Given the description of an element on the screen output the (x, y) to click on. 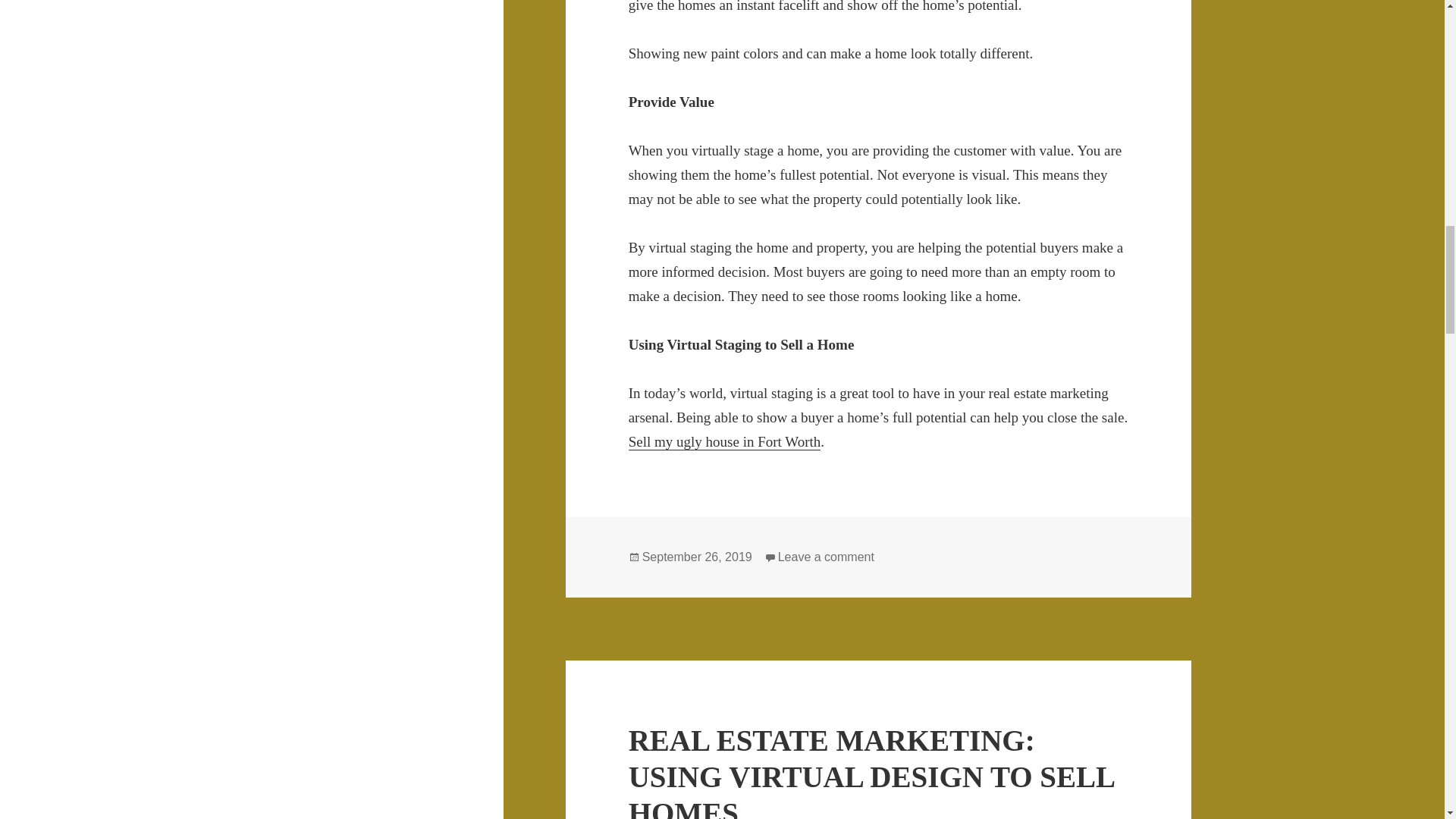
REAL ESTATE MARKETING: USING VIRTUAL DESIGN TO SELL HOMES (870, 771)
September 26, 2019 (697, 557)
Sell my ugly house in Fort Worth (724, 442)
